Given the description of an element on the screen output the (x, y) to click on. 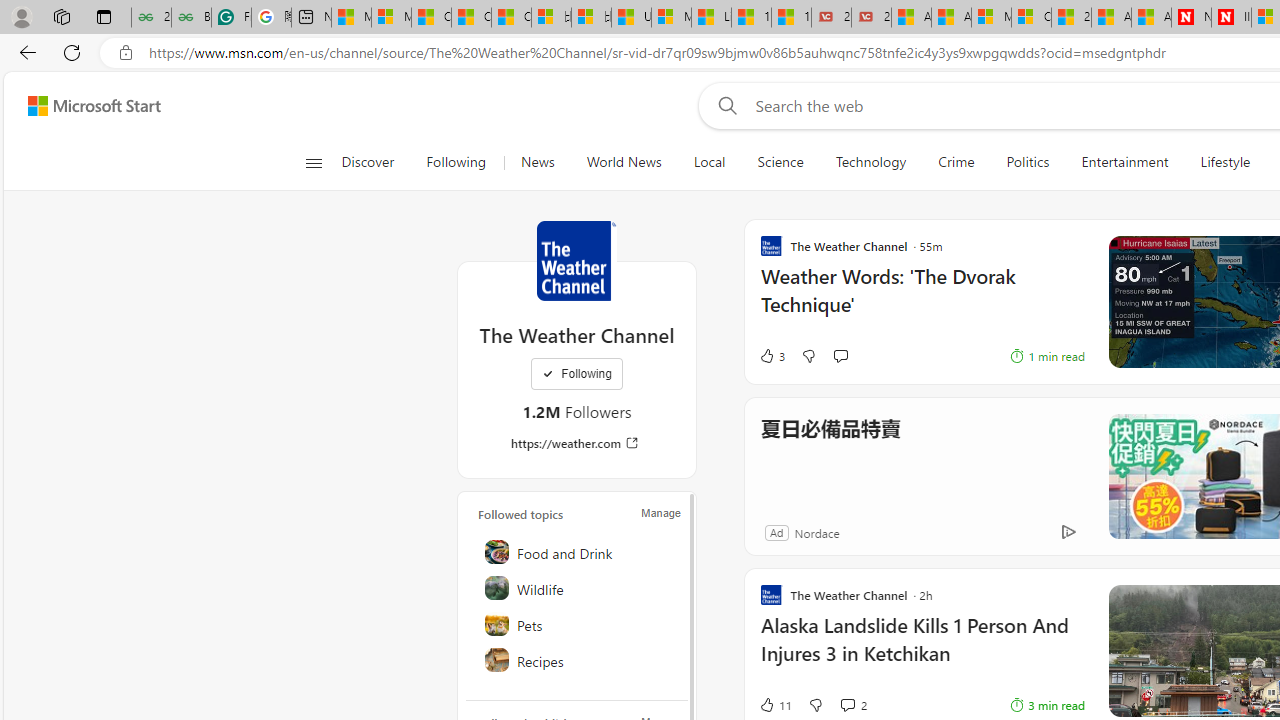
25 Basic Linux Commands For Beginners - GeeksforGeeks (151, 17)
Alaska Landslide Kills 1 Person And Injures 3 in Ketchikan (922, 650)
Lifestyle - MSN (711, 17)
Wildlife (578, 587)
Best SSL Certificates Provider in India - GeeksforGeeks (191, 17)
